Given the description of an element on the screen output the (x, y) to click on. 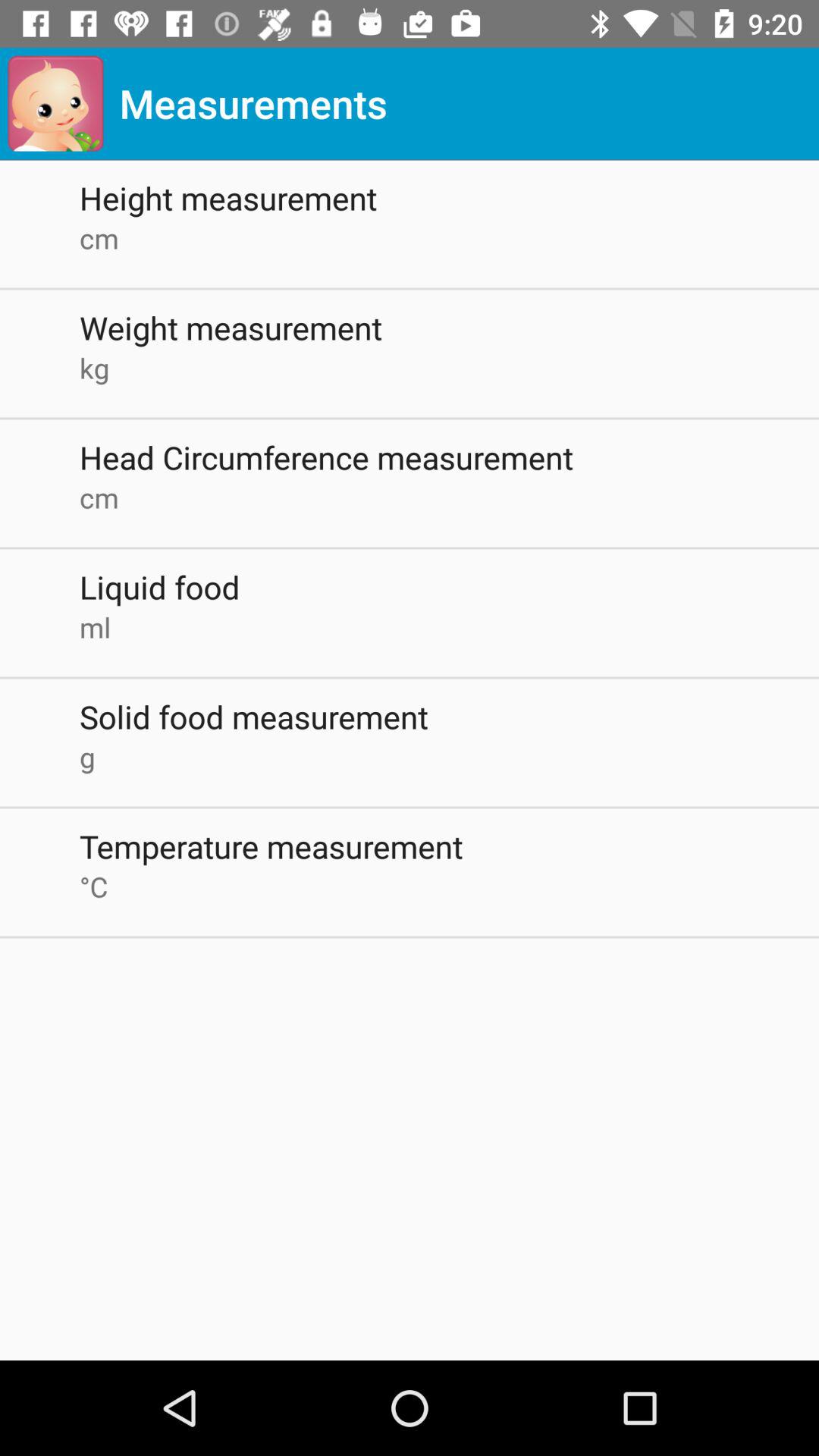
select icon below the cm icon (449, 327)
